Given the description of an element on the screen output the (x, y) to click on. 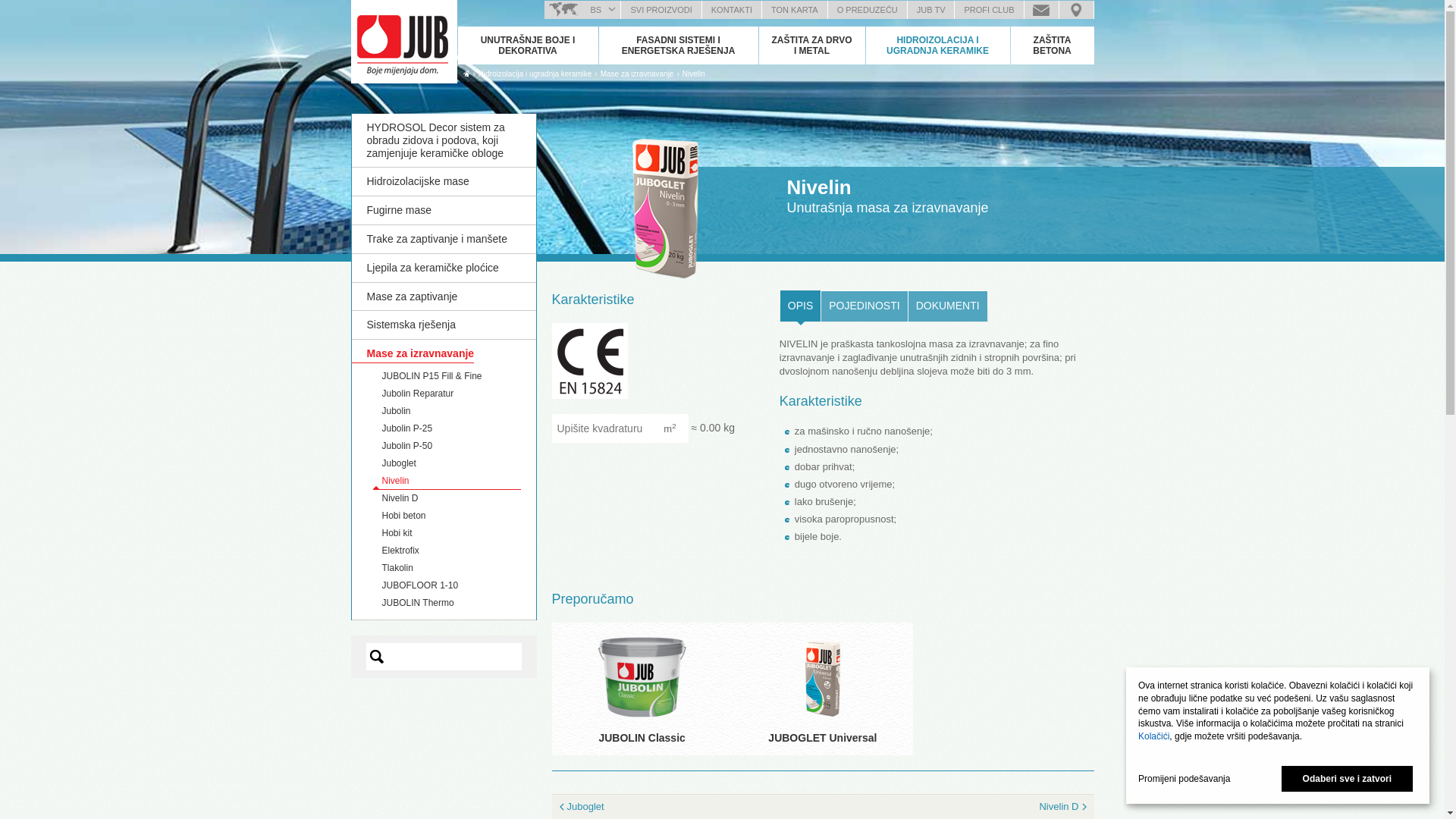
JUBOLIN Classic Element type: text (641, 737)
SVI PROIZVODI Element type: text (660, 9)
JUBOLIN P15 Fill & Fine Element type: text (432, 375)
JUBOGLET Universal  Element type: hover (822, 676)
Jubolin Element type: text (396, 410)
PROFI CLUB Element type: text (988, 9)
Nivelin Element type: text (395, 480)
Odaberi sve i zatvori Element type: text (1346, 778)
Mase za zaptivanje Element type: text (443, 296)
KONTAKTI Element type: text (731, 9)
JUBOLIN Thermo Element type: text (418, 602)
Home Element type: hover (465, 73)
Jubolin Reparatur Element type: text (418, 393)
MAPA LOKACIJA Element type: text (1075, 9)
Fugirne mase Element type: text (443, 209)
JUBOGLET Universal Element type: text (822, 737)
Hidroizolacijske mase Element type: text (443, 181)
Jubolin P-50 Element type: text (407, 445)
Hobi beton Element type: text (404, 515)
HIDROIZOLACIJA I UGRADNJA KERAMIKE Element type: text (938, 45)
JUB TV Element type: text (930, 9)
BS Element type: text (593, 9)
Elektrofix Element type: text (400, 550)
JUB Colours complete your home Element type: hover (403, 41)
JUBOLIN Classic Element type: hover (641, 676)
Hobi kit Element type: text (397, 532)
Juboglet Element type: text (399, 463)
Tlakolin Element type: text (397, 567)
JUBOFLOOR 1-10 Element type: text (420, 585)
Mase za izravnavanje Element type: text (412, 355)
Juboglet Element type: text (668, 806)
CE 15824 Element type: hover (589, 360)
Nivelin Element type: text (693, 73)
Home Element type: hover (465, 73)
Jubolin P-25 Element type: text (407, 428)
Nivelin D Element type: text (400, 497)
Nivelin D Element type: text (976, 806)
Hidroizolacija i ugradnja keramike Element type: text (535, 73)
Mase za izravnavanje Element type: text (637, 73)
TON KARTA Element type: text (794, 9)
